Given the description of an element on the screen output the (x, y) to click on. 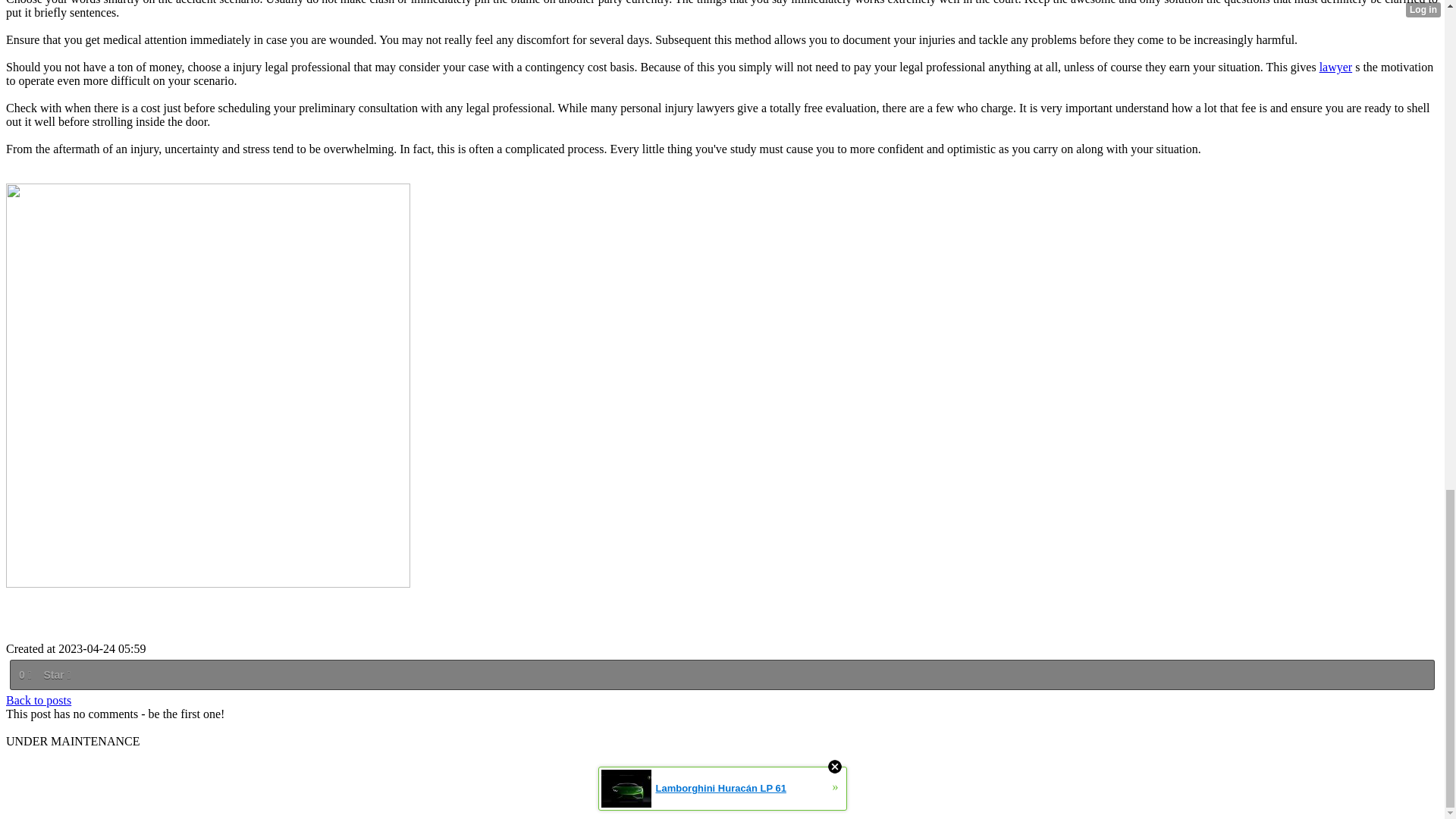
Star (56, 674)
Back to posts (38, 699)
0 (24, 674)
lawyer (1335, 66)
